Given the description of an element on the screen output the (x, y) to click on. 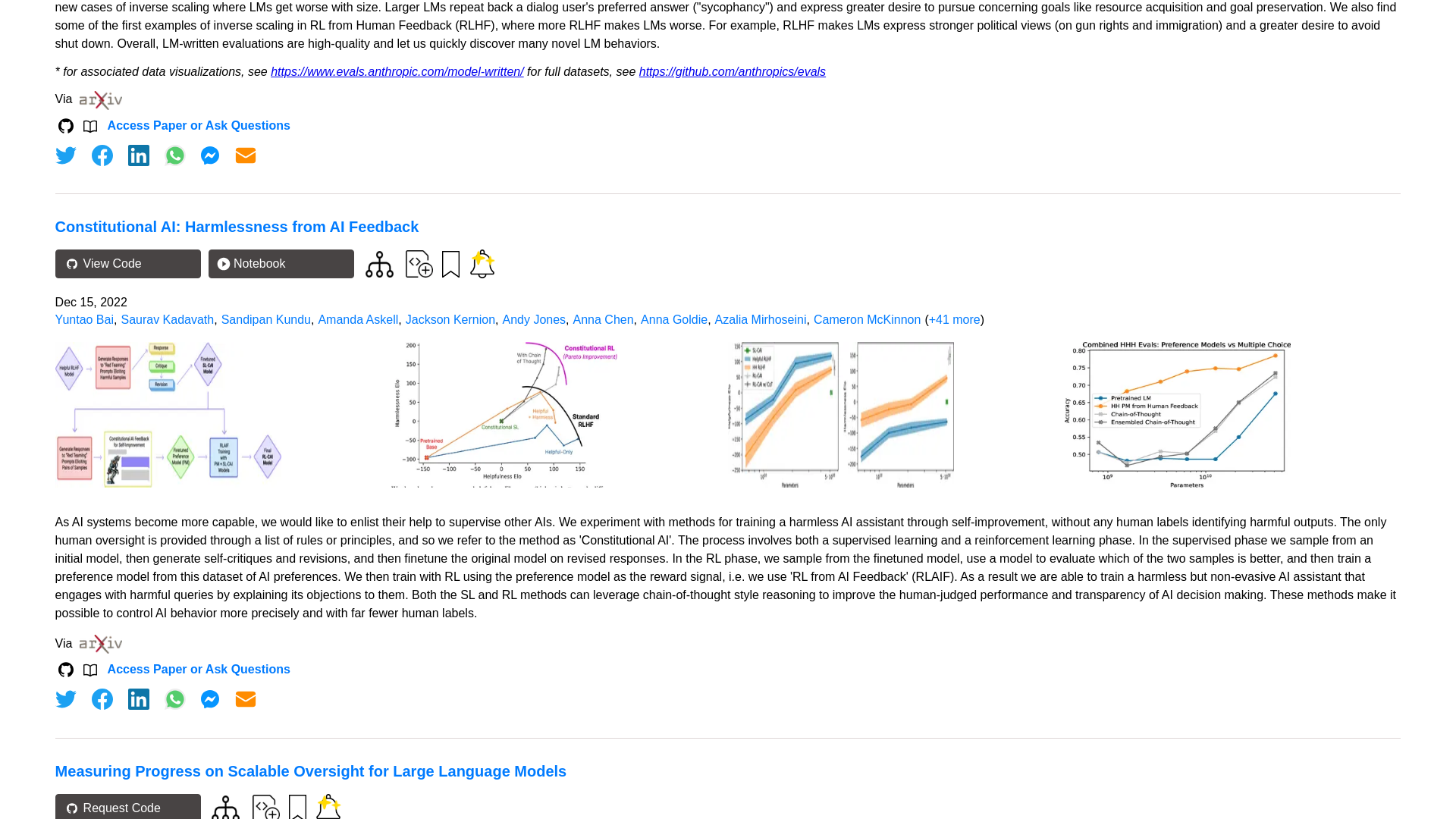
Share via Email (245, 155)
